Given the description of an element on the screen output the (x, y) to click on. 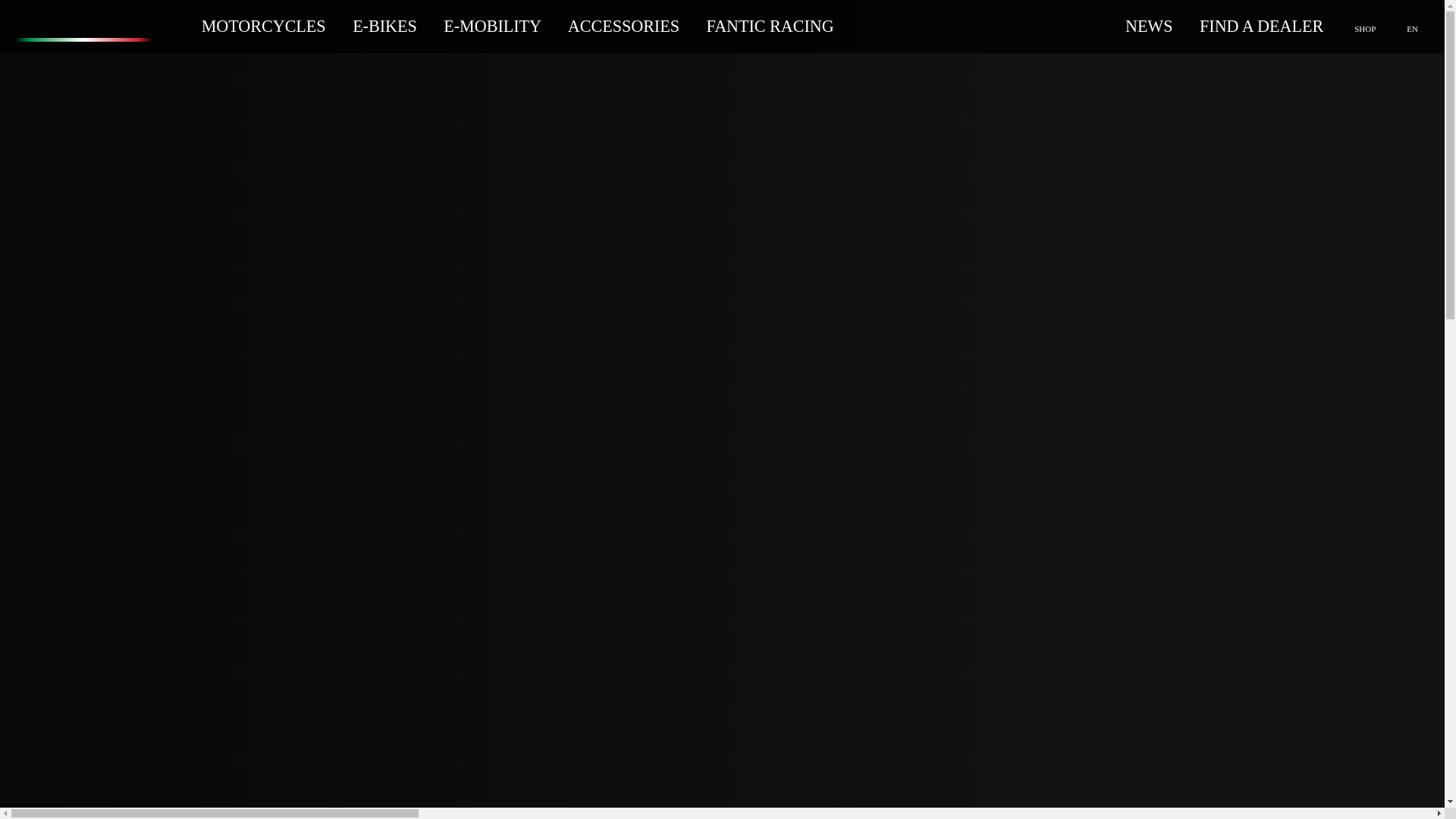
Shop online (1363, 26)
News (1149, 26)
FANTIC RACING (770, 26)
Moto (266, 26)
index Fantic (83, 26)
E-MOBILITY (494, 26)
E-mobility (494, 26)
 EN (1410, 26)
E-BIKES (386, 26)
MOTORCYCLES (266, 26)
Cerca un rivenditore (1261, 26)
Accessori (625, 26)
 SHOP (1363, 26)
eBikes (386, 26)
Fantic Racing (770, 26)
